Given the description of an element on the screen output the (x, y) to click on. 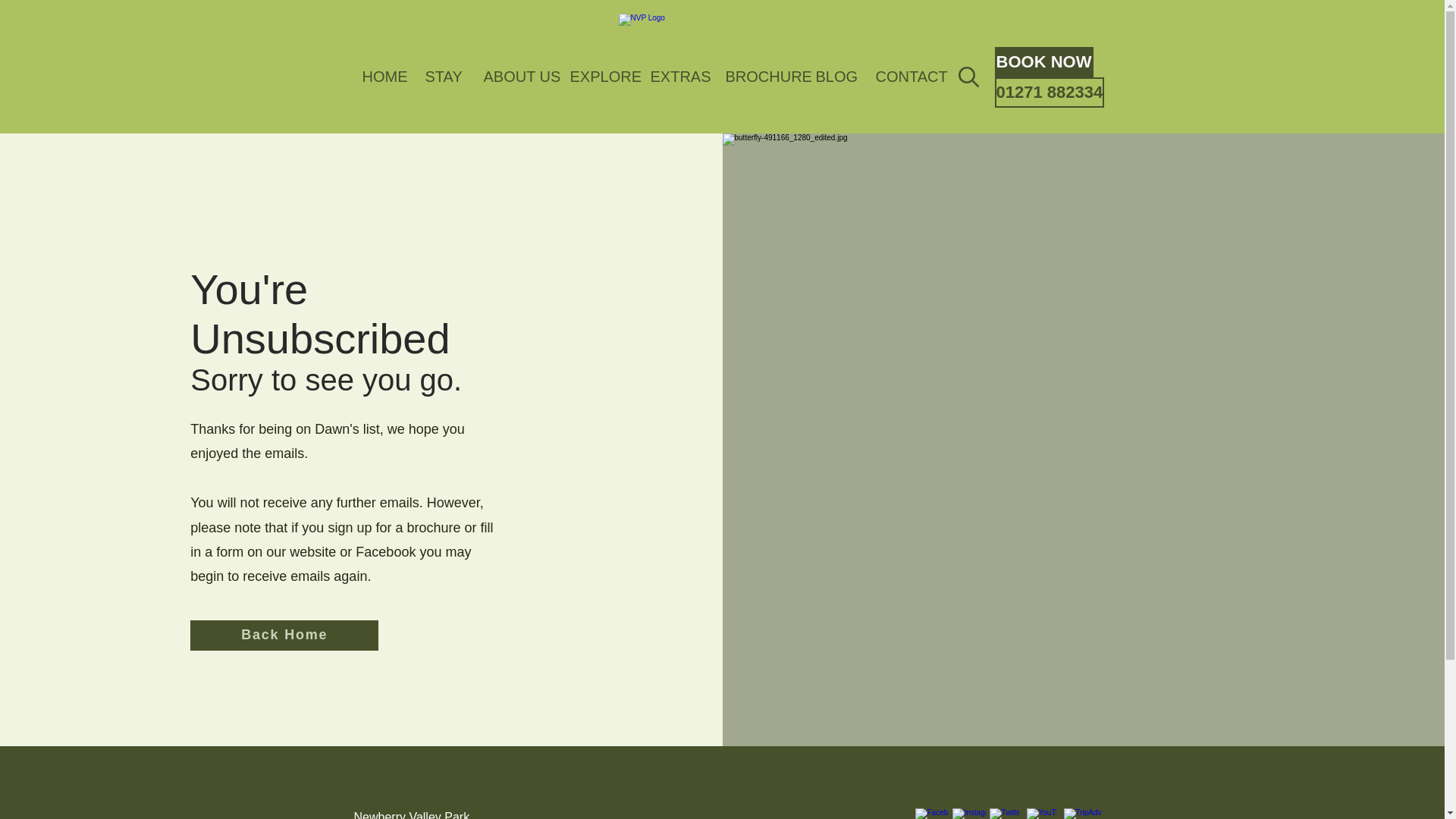
BLOG (833, 76)
ABOUT US (514, 76)
EXPLORE (598, 76)
CONTACT (903, 76)
Back Home (284, 634)
HOME (381, 76)
BROCHURE (758, 76)
01271 882334 (1049, 91)
EXTRAS (676, 76)
BOOK NOW (1043, 61)
